Given the description of an element on the screen output the (x, y) to click on. 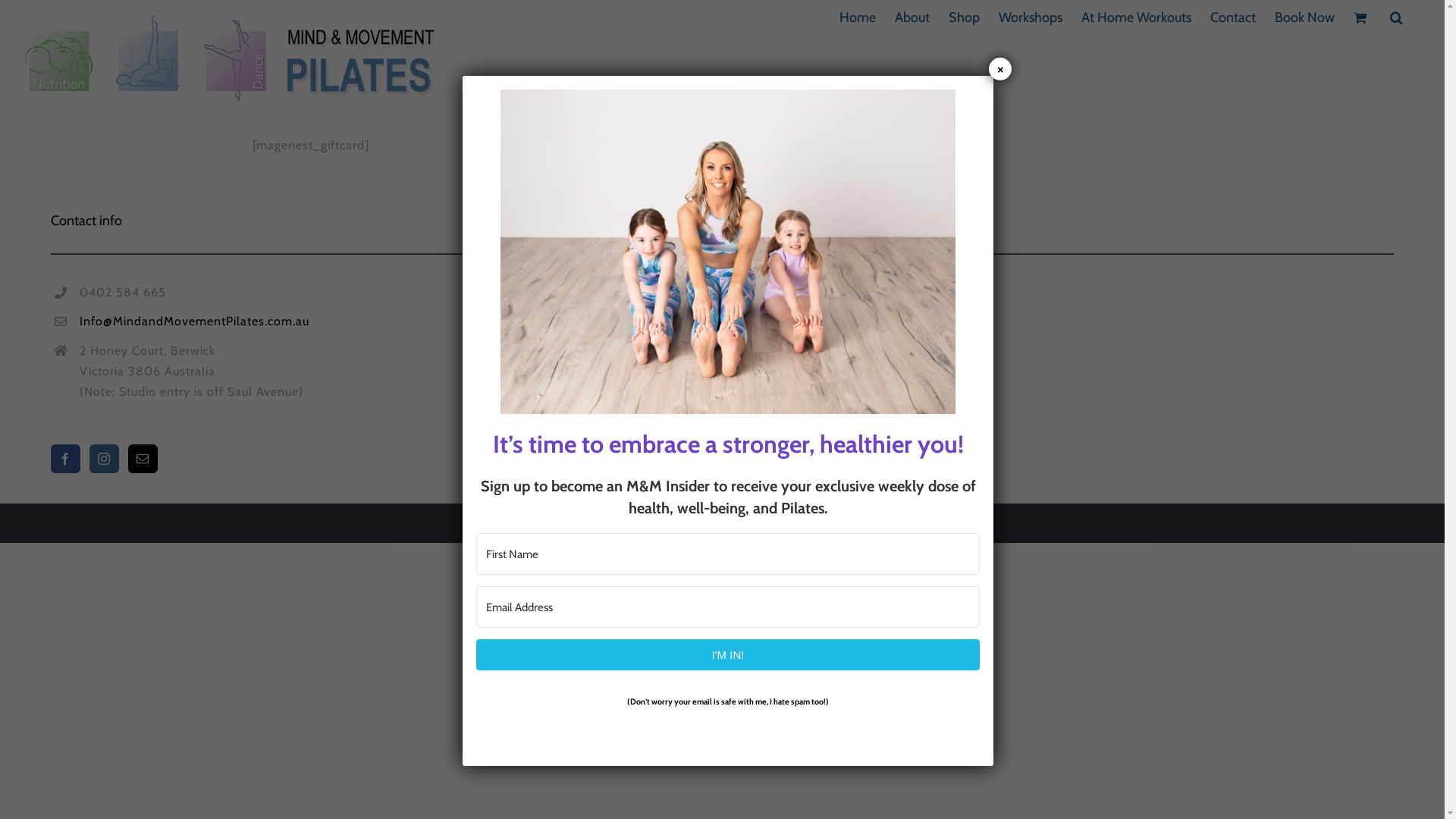
I'M IN! Element type: text (727, 654)
Shop Element type: text (963, 16)
Book Now Element type: text (1304, 16)
Contact Element type: text (1232, 16)
Workshops Element type: text (1030, 16)
About Element type: text (911, 16)
Search Element type: hover (1396, 16)
Kate_2019_44 Element type: hover (727, 251)
At Home Workouts Element type: text (1136, 16)
Home Element type: text (857, 16)
Info@MindandMovementPilates.com.au Element type: text (736, 320)
